Given the description of an element on the screen output the (x, y) to click on. 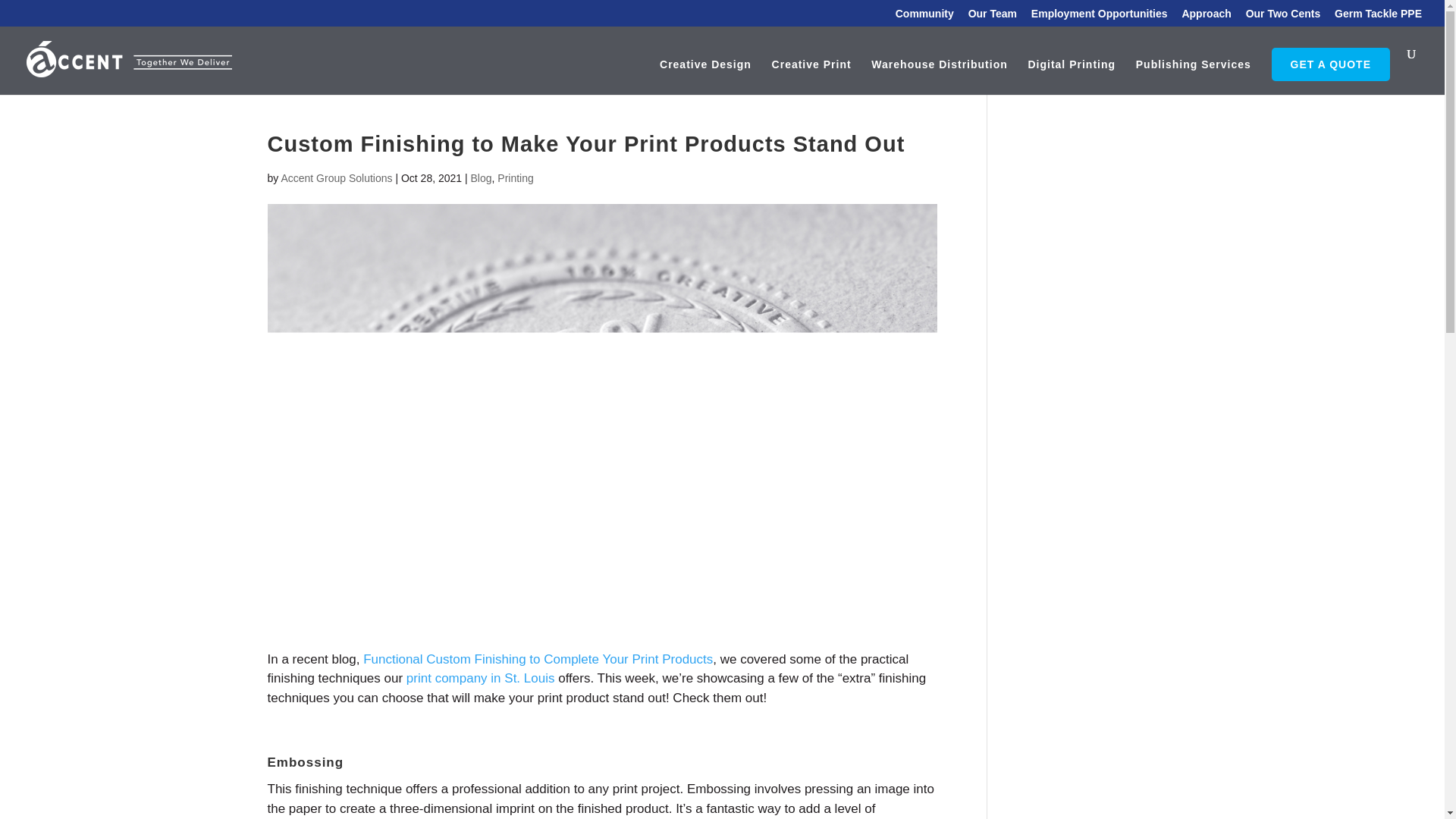
Creative Print (811, 76)
Posts by Accent Group Solutions (336, 177)
Employment Opportunities (1098, 16)
Warehouse Distribution (938, 76)
Our Team (992, 16)
Printing (514, 177)
Approach (1205, 16)
Blog (481, 177)
Creative Design (705, 76)
Functional Custom Finishing to Complete Your Print Products (537, 658)
